Given the description of an element on the screen output the (x, y) to click on. 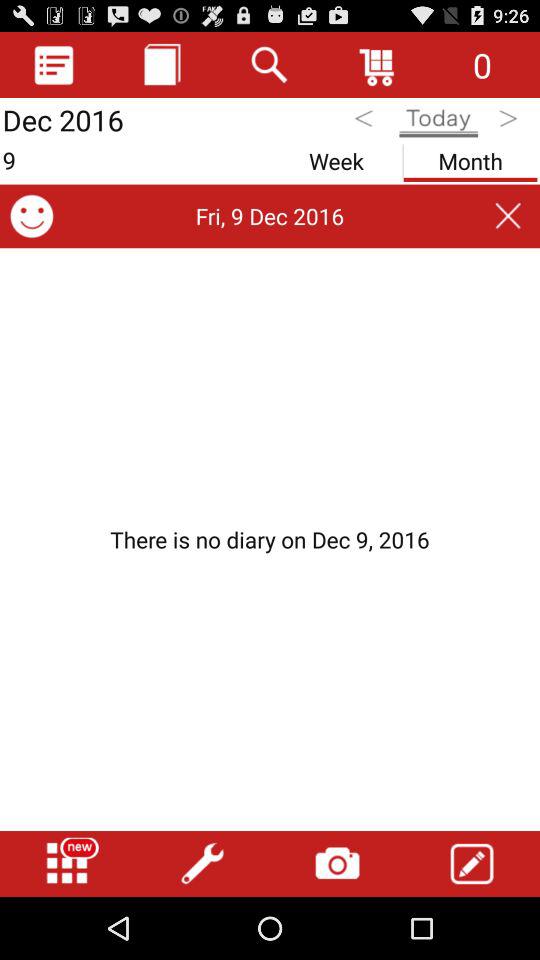
settings (202, 863)
